Given the description of an element on the screen output the (x, y) to click on. 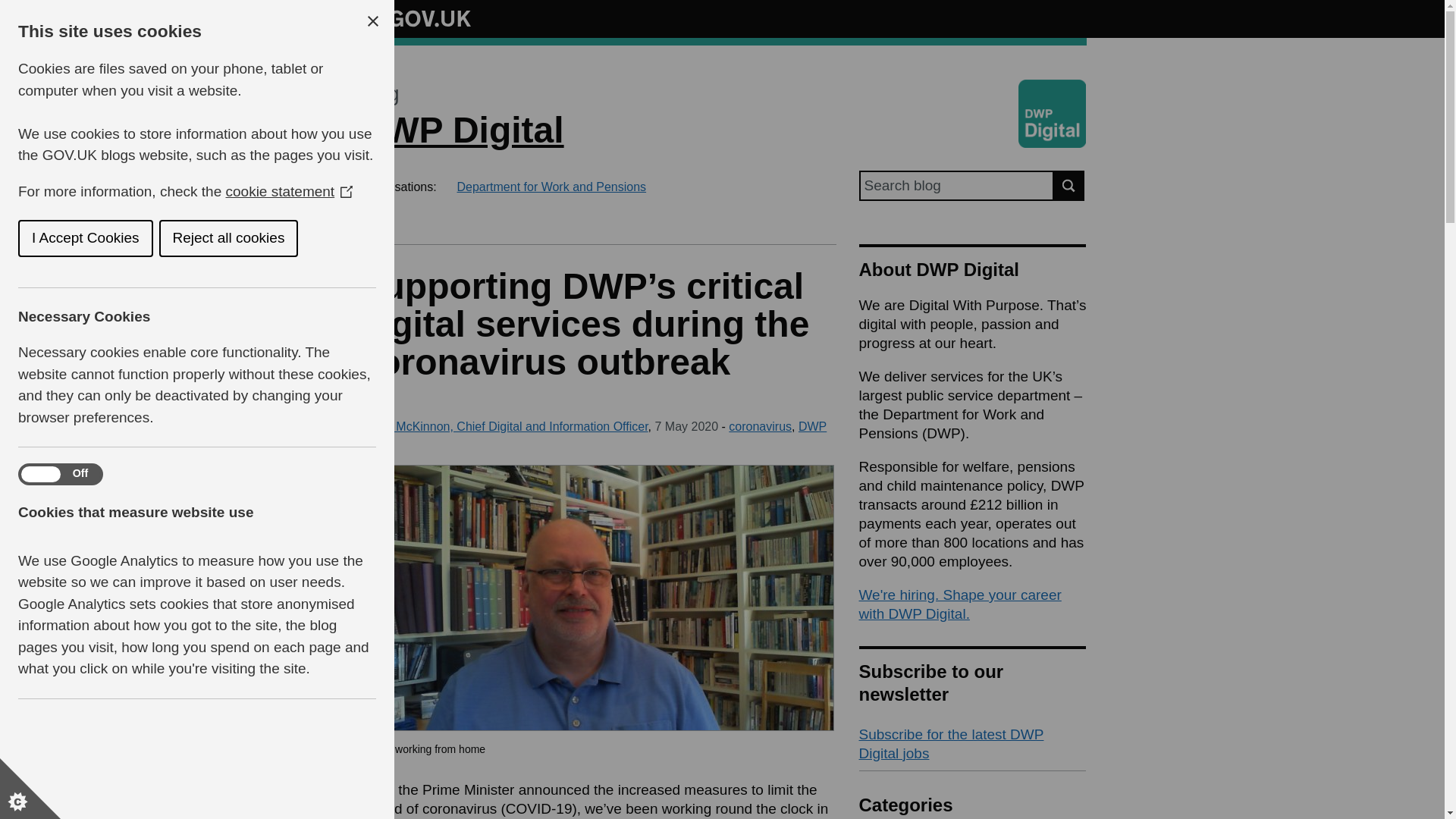
Simon McKinnon, Chief Digital and Information Officer (502, 426)
Department for Work and Pensions (551, 186)
GOV.UK (414, 15)
We're hiring. Shape your career with DWP Digital. (960, 604)
coronavirus (760, 426)
Search (1069, 185)
Blog (378, 93)
DWP Digital (592, 433)
DWP Digital (460, 129)
Skip to main content (11, 7)
Reject all cookies (50, 238)
Search (1069, 185)
Go to the GOV.UK homepage (414, 18)
GOV.UK (414, 18)
